Given the description of an element on the screen output the (x, y) to click on. 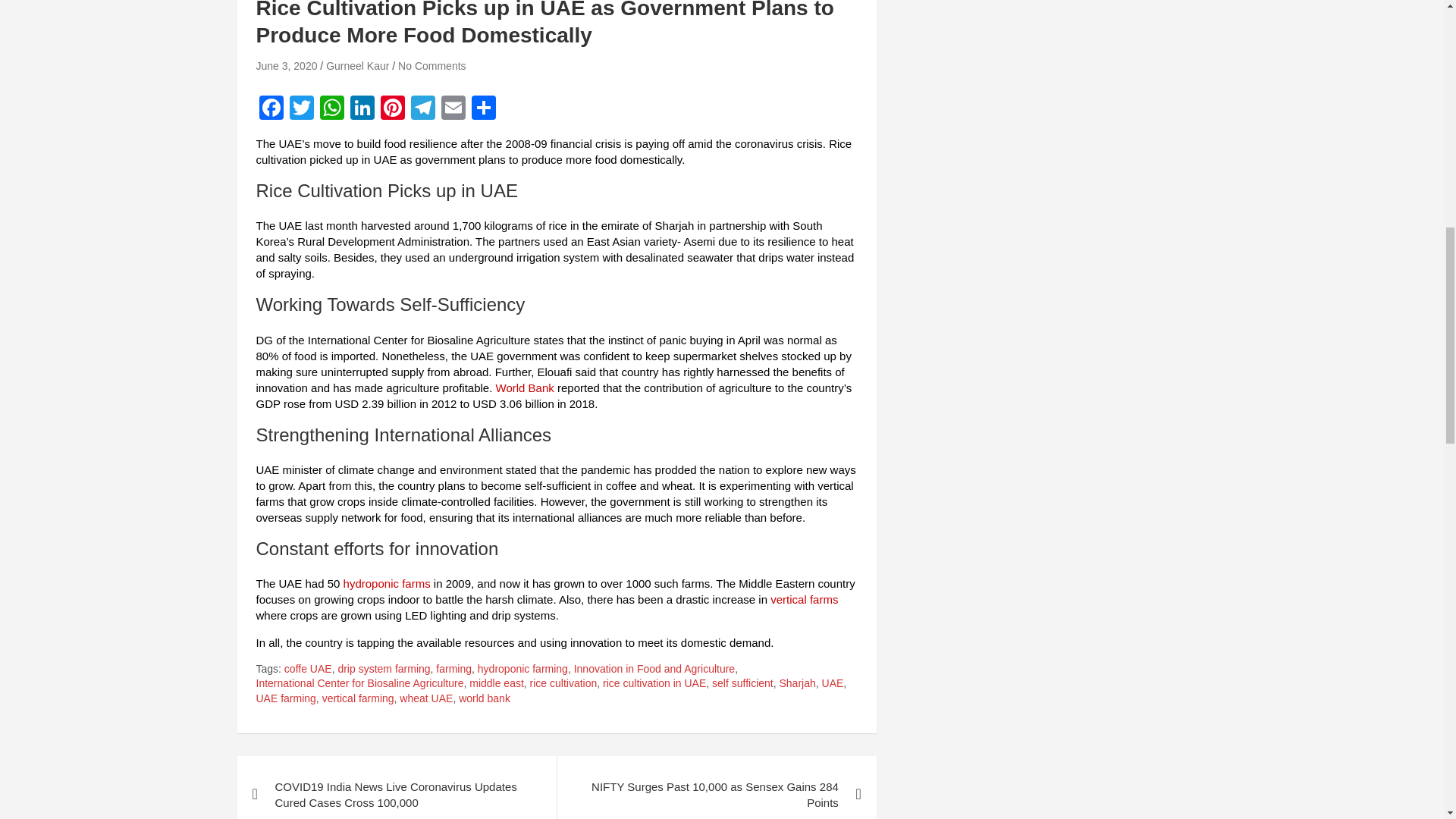
farming (453, 669)
Gurneel Kaur (357, 65)
Facebook (271, 109)
LinkedIn (362, 109)
Facebook (271, 109)
Twitter (301, 109)
Pinterest (392, 109)
Pinterest (392, 109)
WhatsApp (332, 109)
